Given the description of an element on the screen output the (x, y) to click on. 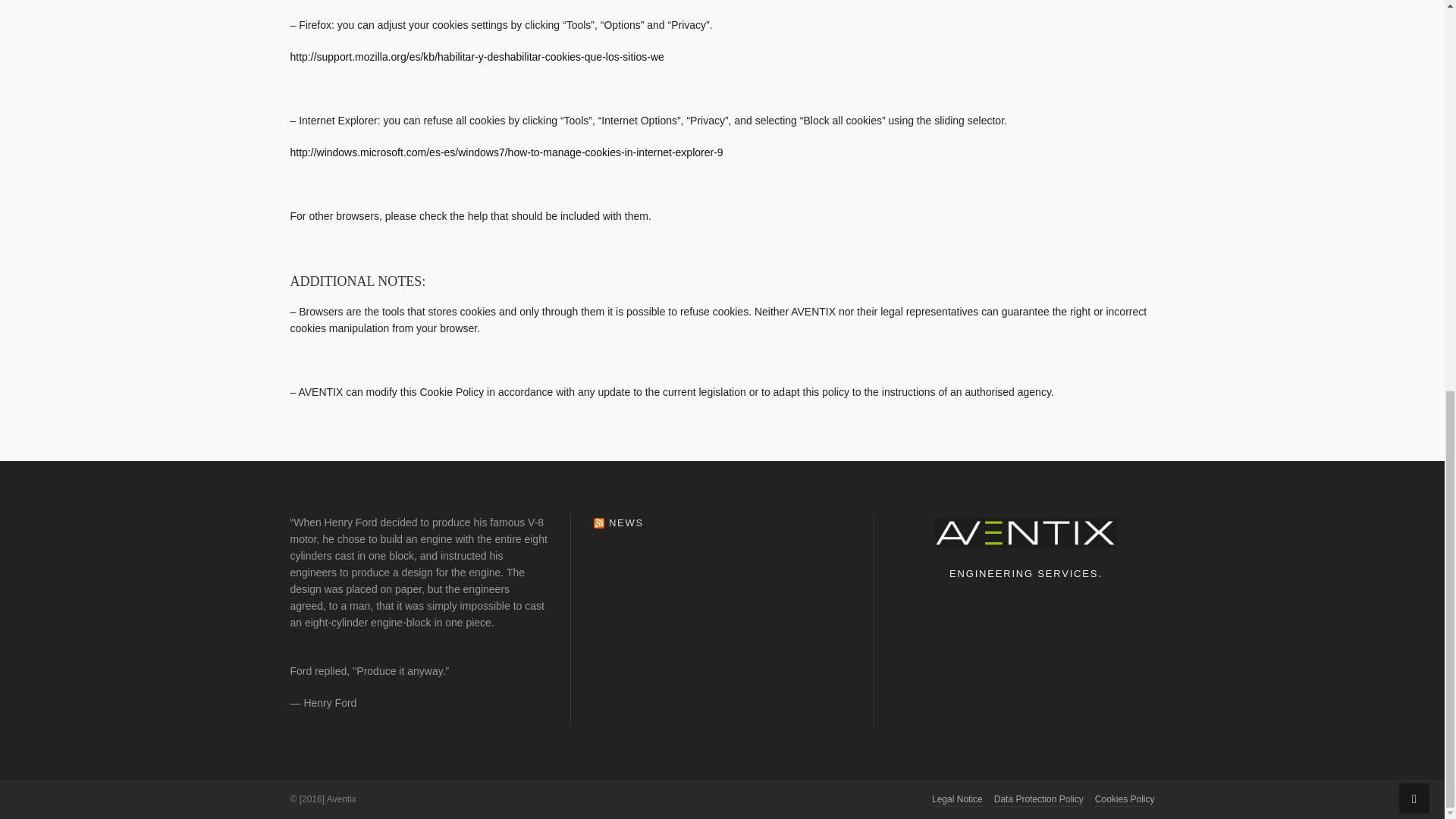
NEWS (625, 522)
Cookies Policy (1124, 799)
Data Protection Policy (1038, 799)
Legal Notice (956, 799)
